Given the description of an element on the screen output the (x, y) to click on. 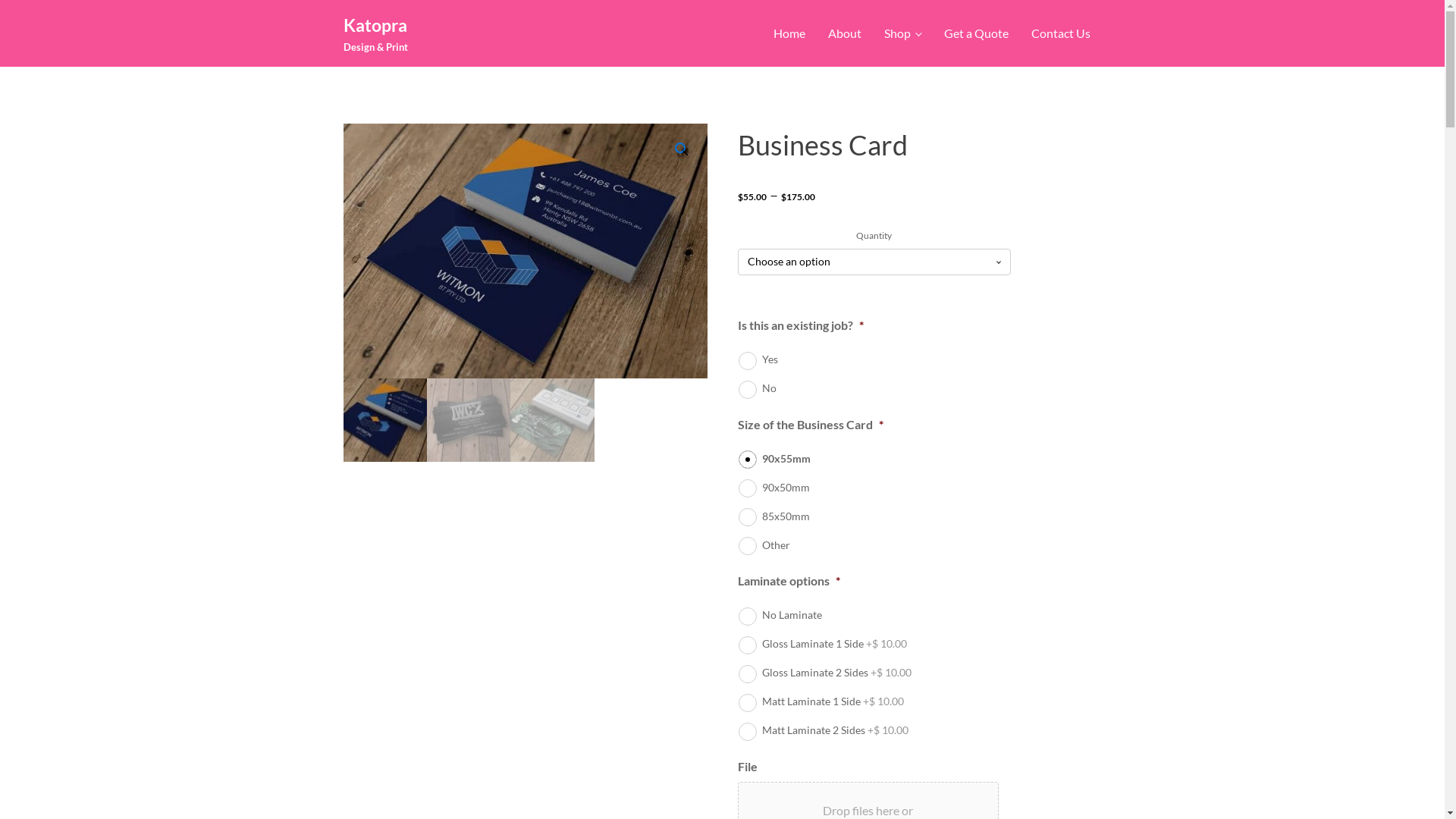
01_business card mockup Element type: hover (524, 250)
Shop Element type: text (902, 33)
About Element type: text (844, 33)
Home Element type: text (789, 33)
Get a Quote Element type: text (975, 33)
Contact Us Element type: text (1060, 33)
